Given the description of an element on the screen output the (x, y) to click on. 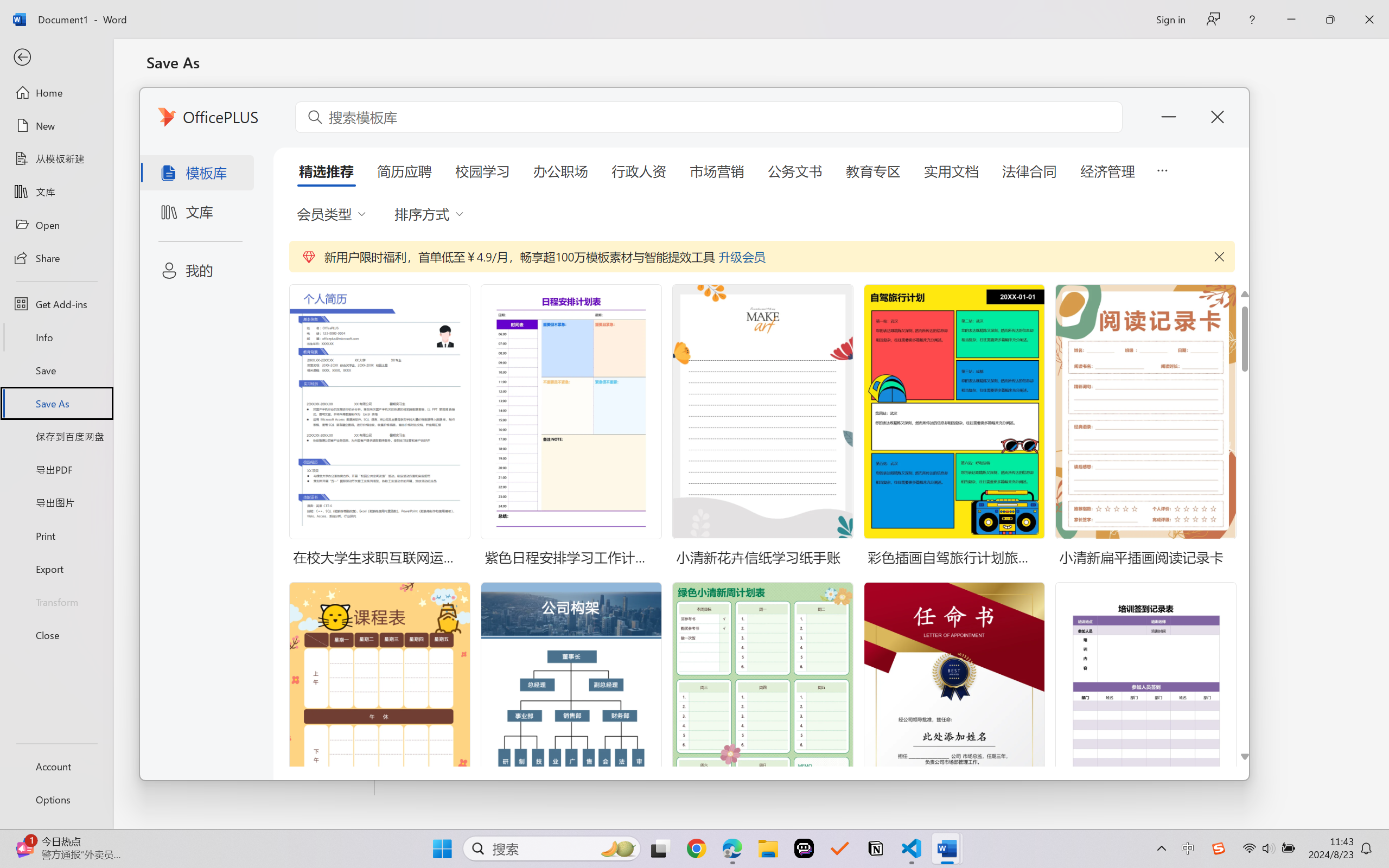
Back (56, 57)
Copy Link (261, 254)
5 more tabs (1161, 169)
